Given the description of an element on the screen output the (x, y) to click on. 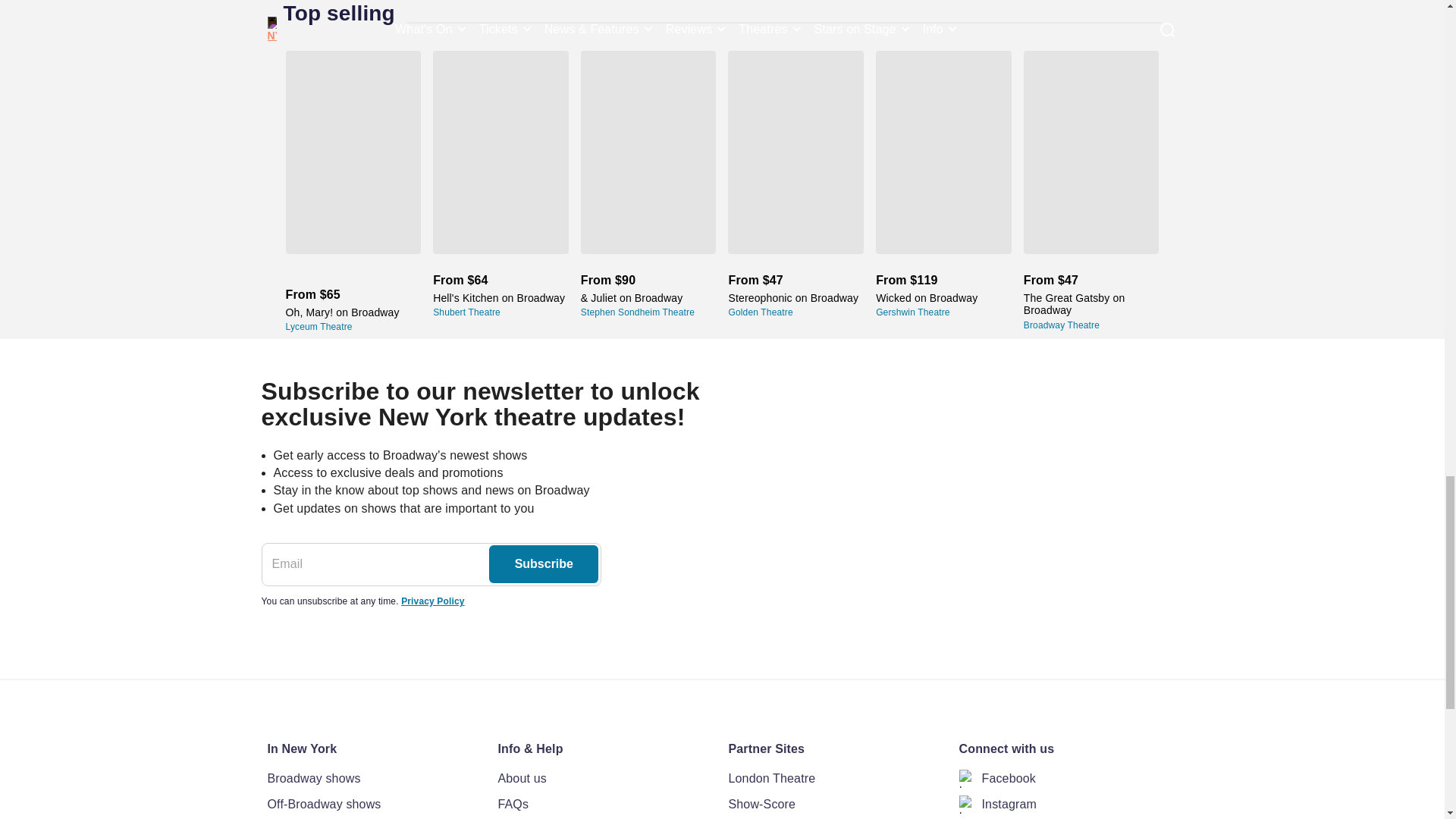
Broadway shows (375, 778)
Off-Broadway shows (375, 804)
